Given the description of an element on the screen output the (x, y) to click on. 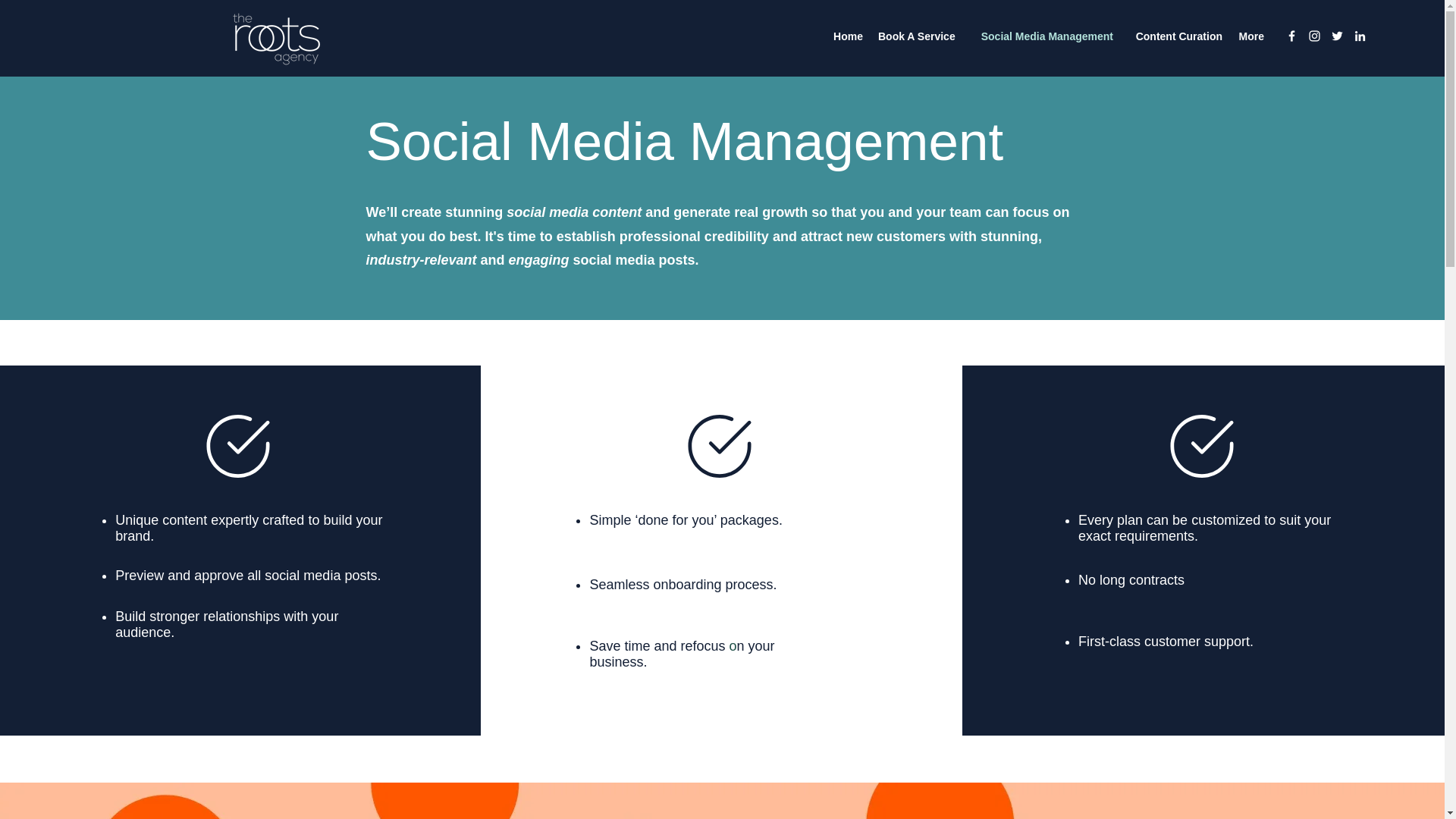
Social Media Management (1040, 36)
Book A Service (915, 36)
Content Curation (1175, 36)
Home (847, 36)
